Given the description of an element on the screen output the (x, y) to click on. 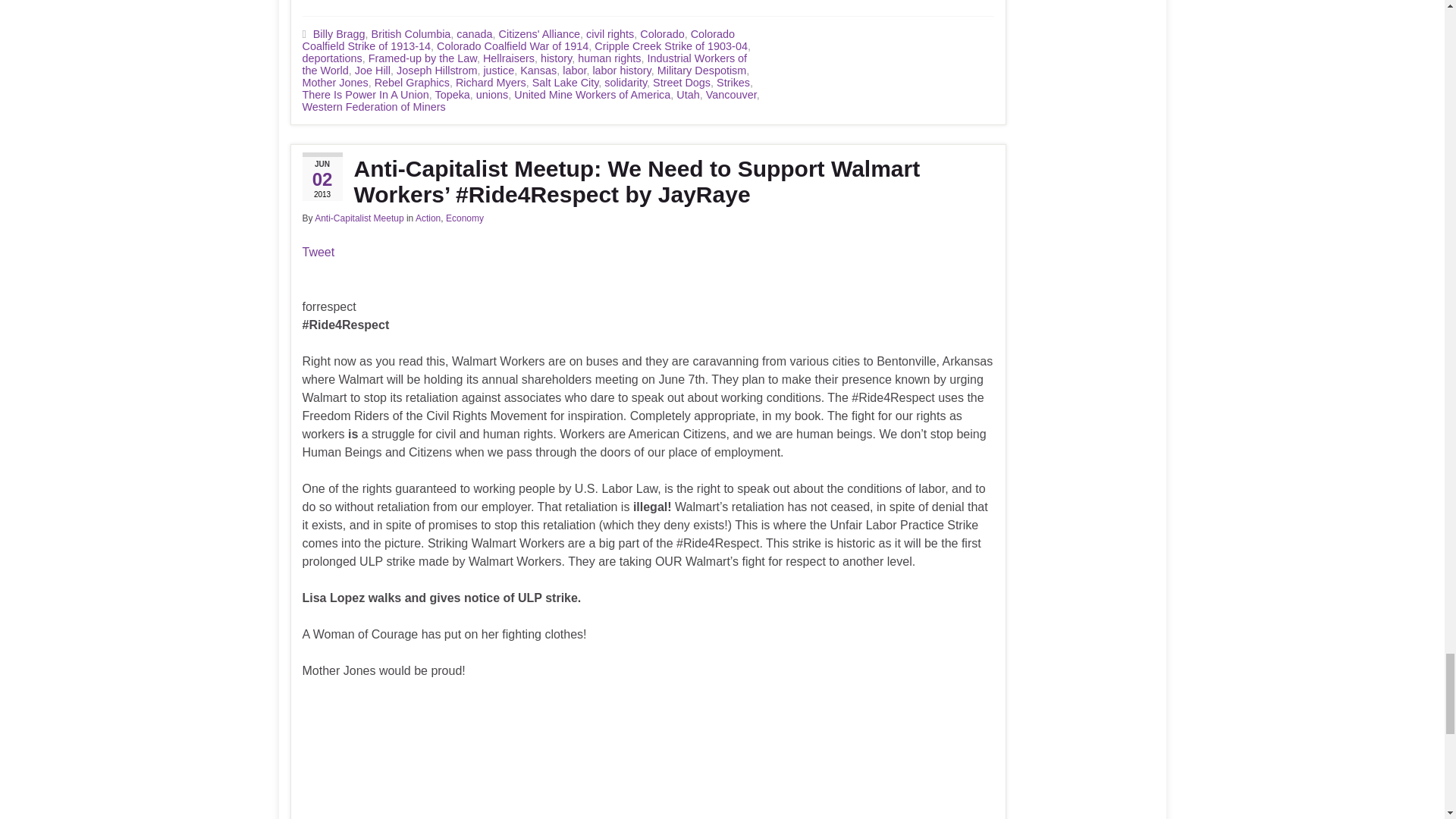
deportations (331, 58)
Colorado Coalfield War of 1914 (512, 46)
British Columbia (411, 33)
Billy Bragg (339, 33)
canada (474, 33)
Colorado (662, 33)
Colorado Coalfield Strike of 1913-14 (518, 39)
Hellraisers (508, 58)
civil rights (609, 33)
Framed-up by the Law (422, 58)
Citizens' Alliance (539, 33)
Cripple Creek Strike of 1903-04 (671, 46)
